Given the description of an element on the screen output the (x, y) to click on. 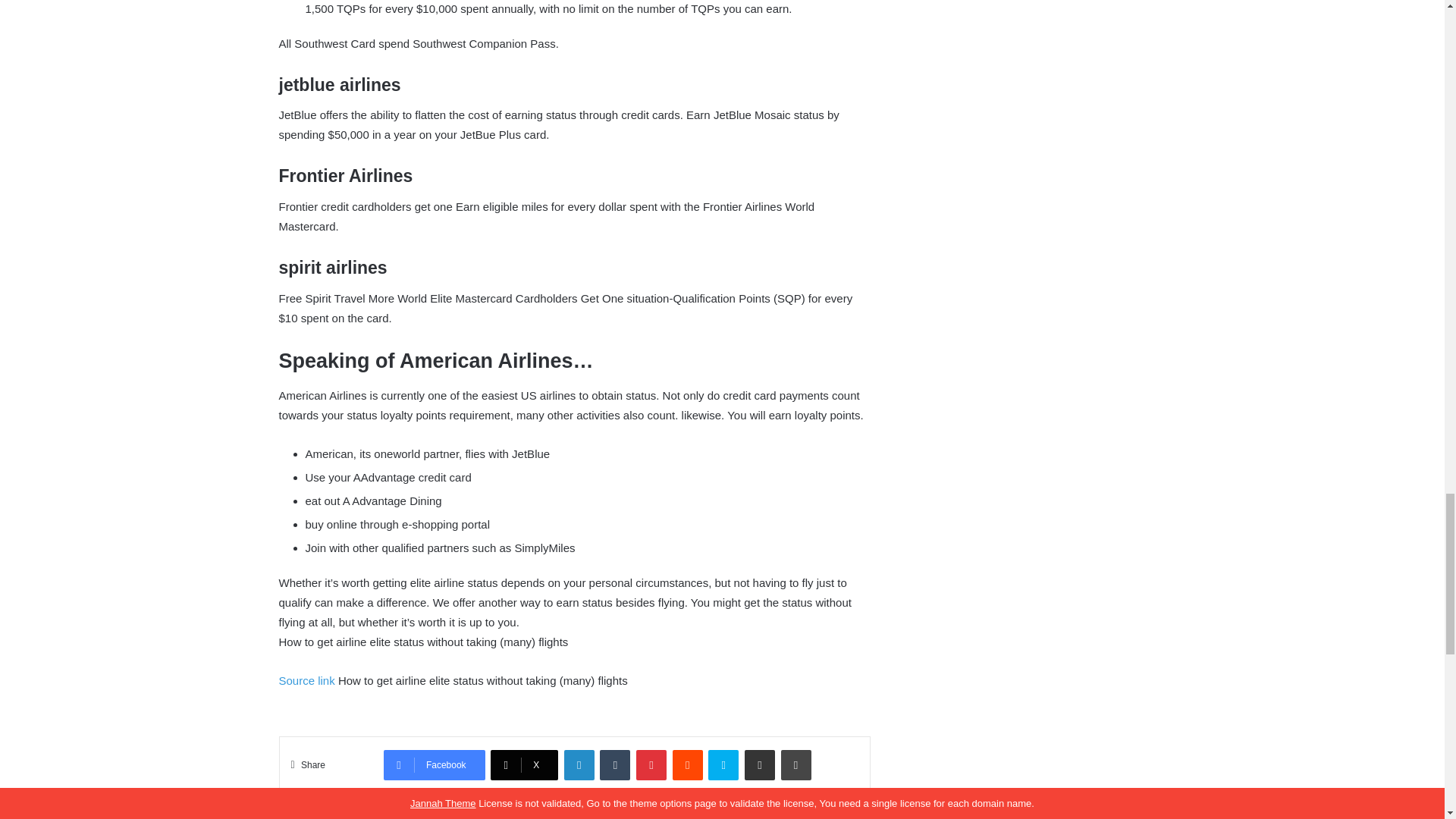
Print (795, 765)
LinkedIn (579, 765)
Skype (722, 765)
Pinterest (651, 765)
Facebook (434, 765)
Pinterest (651, 765)
Reddit (687, 765)
Reddit (687, 765)
Share via Email (759, 765)
X (523, 765)
